Given the description of an element on the screen output the (x, y) to click on. 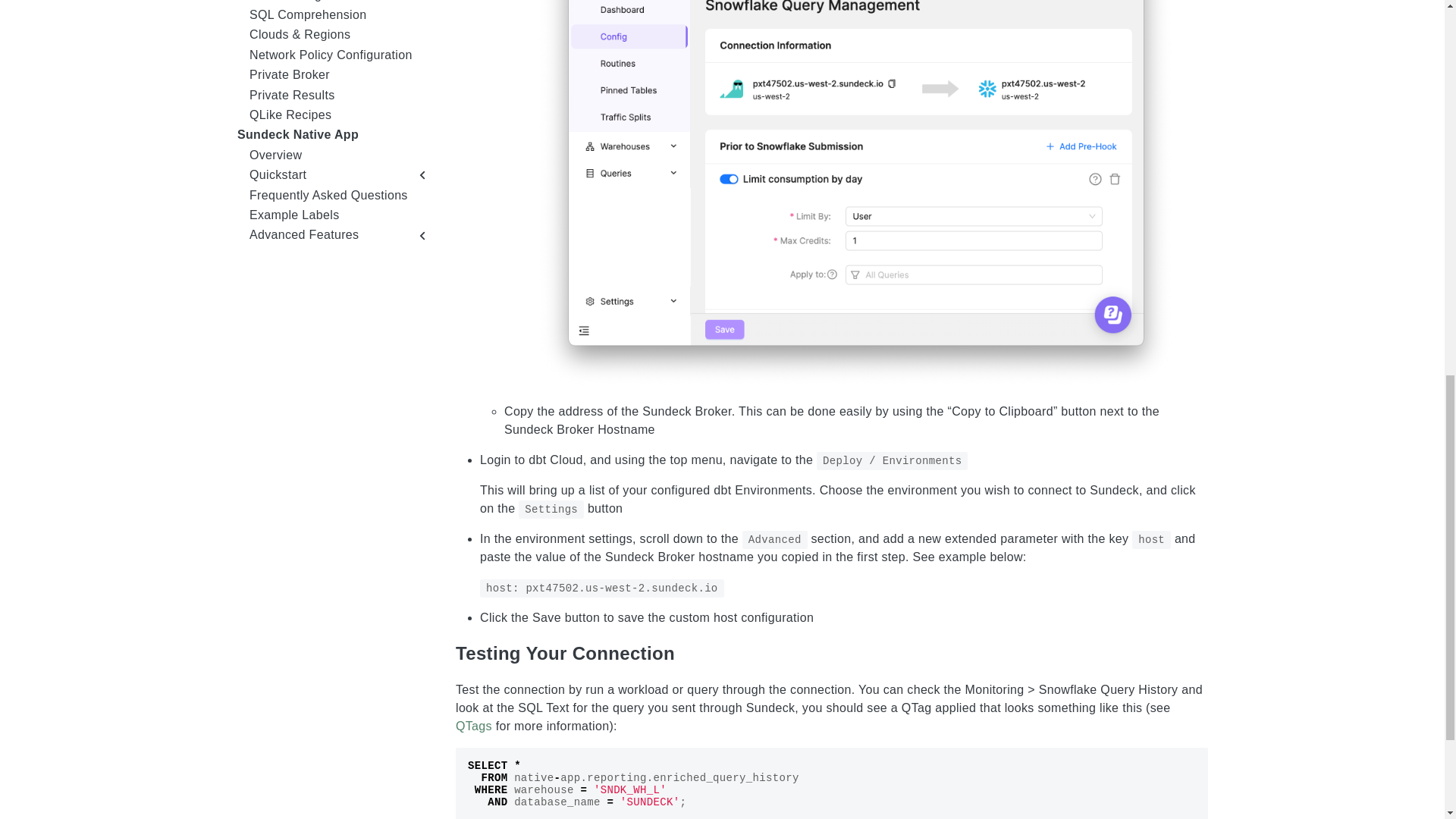
Anchor to: Testing Your Connection (691, 653)
